Given the description of an element on the screen output the (x, y) to click on. 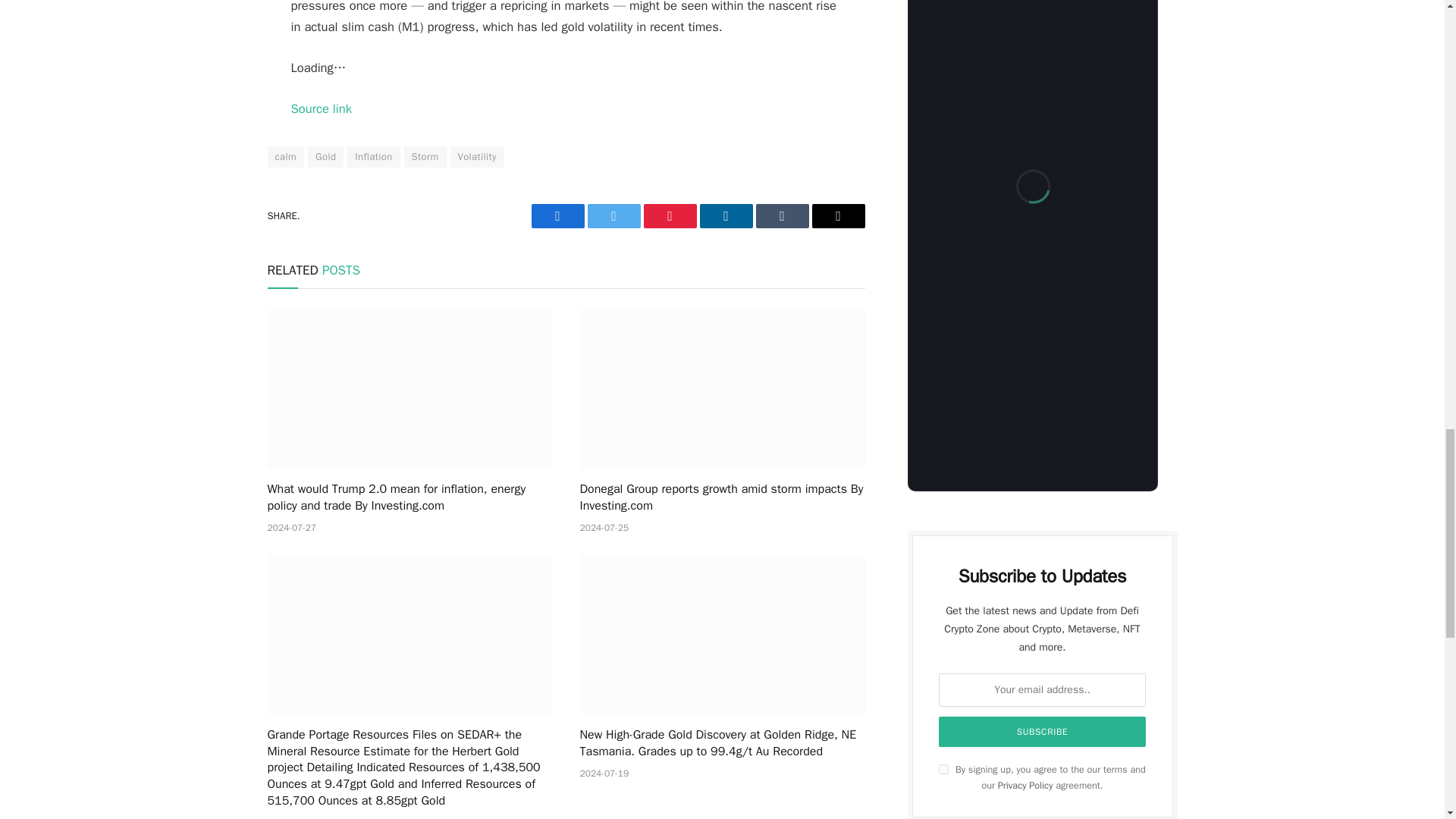
on (944, 768)
Subscribe (1043, 731)
